Given the description of an element on the screen output the (x, y) to click on. 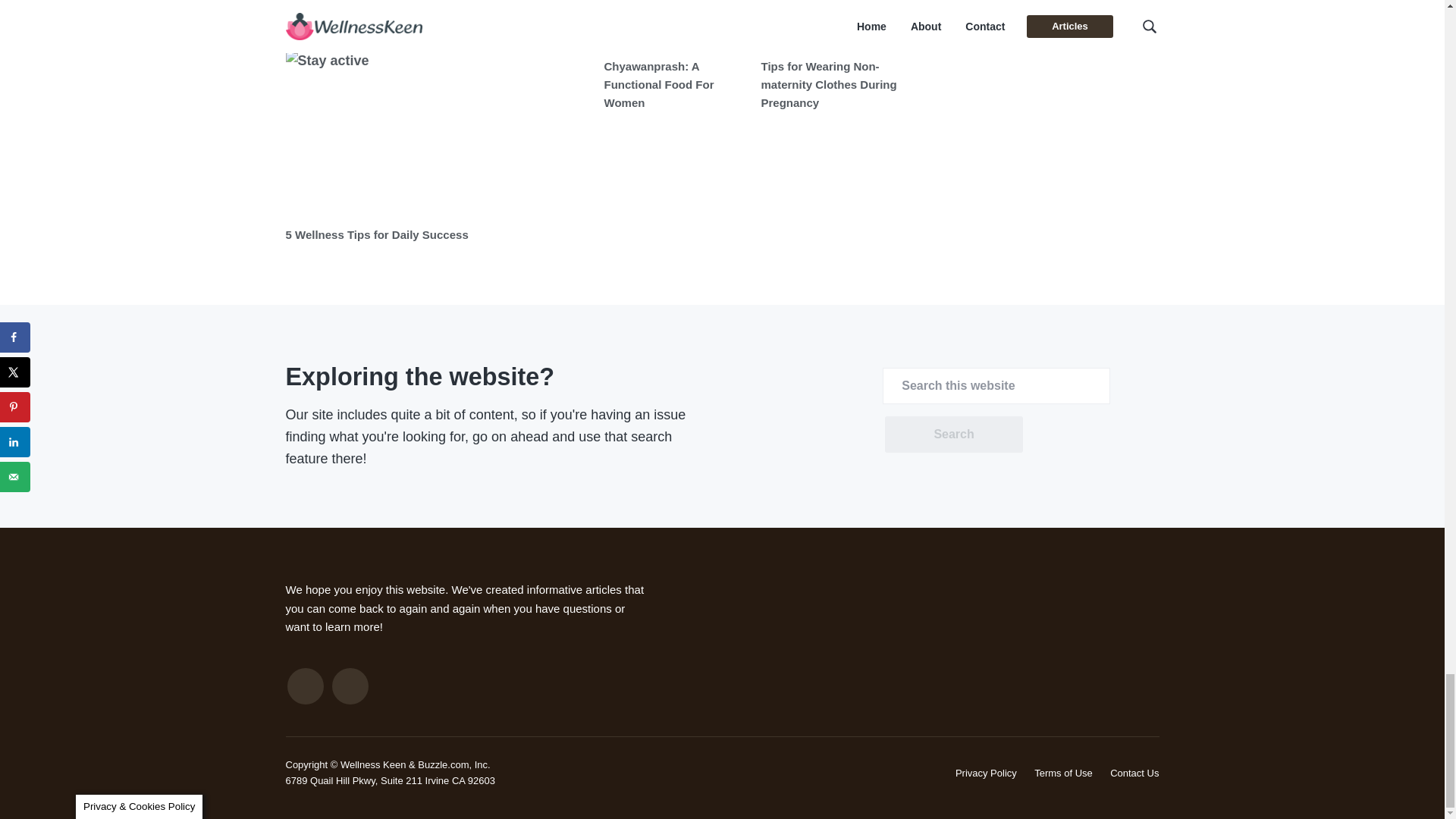
5 Wellness Tips for Daily Success (376, 234)
Permanent Link to Chyawanprash: A Functional Food For Women (658, 84)
Tips for Wearing Non-maternity Clothes During Pregnancy (828, 84)
Search (953, 434)
Chyawanprash: A Functional Food For Women (658, 84)
Search (953, 434)
Permanent Link to 5 Wellness Tips for Daily Success (436, 133)
Permanent Link to 5 Wellness Tips for Daily Success (376, 234)
